Given the description of an element on the screen output the (x, y) to click on. 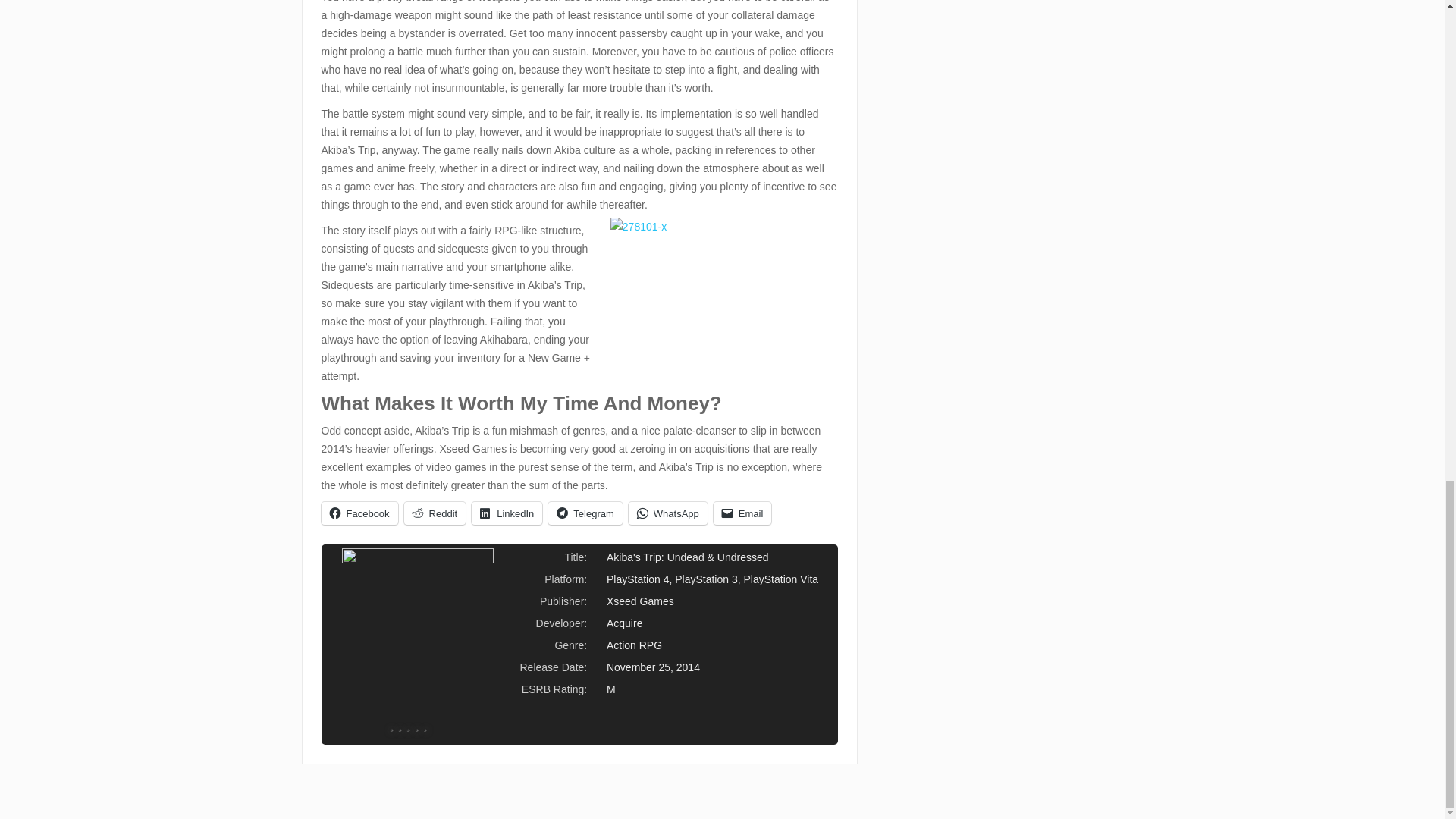
Click to share on LinkedIn (506, 513)
Click to share on WhatsApp (667, 513)
Reddit (434, 513)
Click to share on Telegram (584, 513)
Facebook (359, 513)
Click to share on Facebook (359, 513)
Telegram (584, 513)
LinkedIn (506, 513)
Click to share on Reddit (434, 513)
Click to email a link to a friend (742, 513)
